Given the description of an element on the screen output the (x, y) to click on. 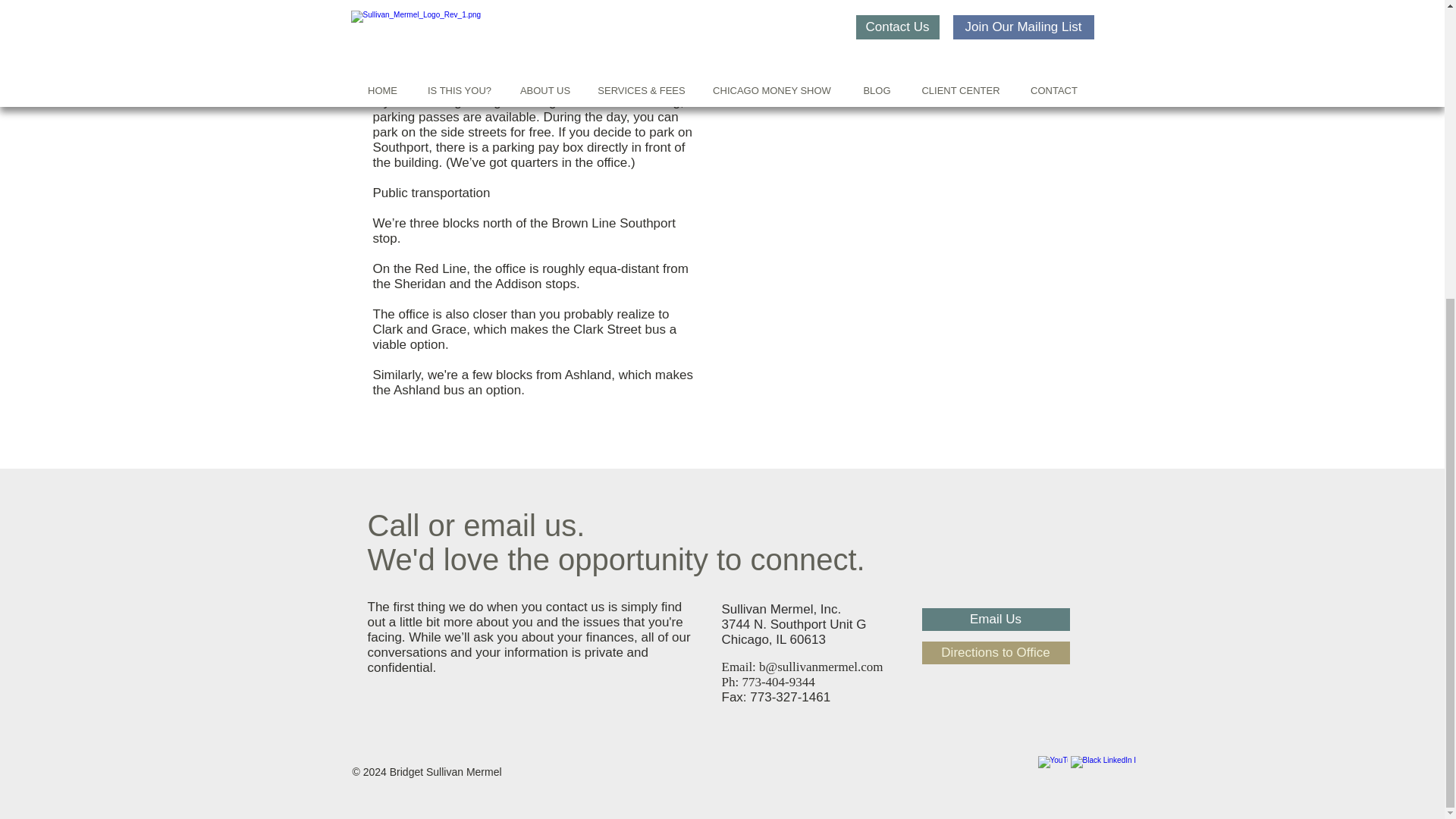
Email Us (995, 619)
Directions to Office (995, 652)
